Given the description of an element on the screen output the (x, y) to click on. 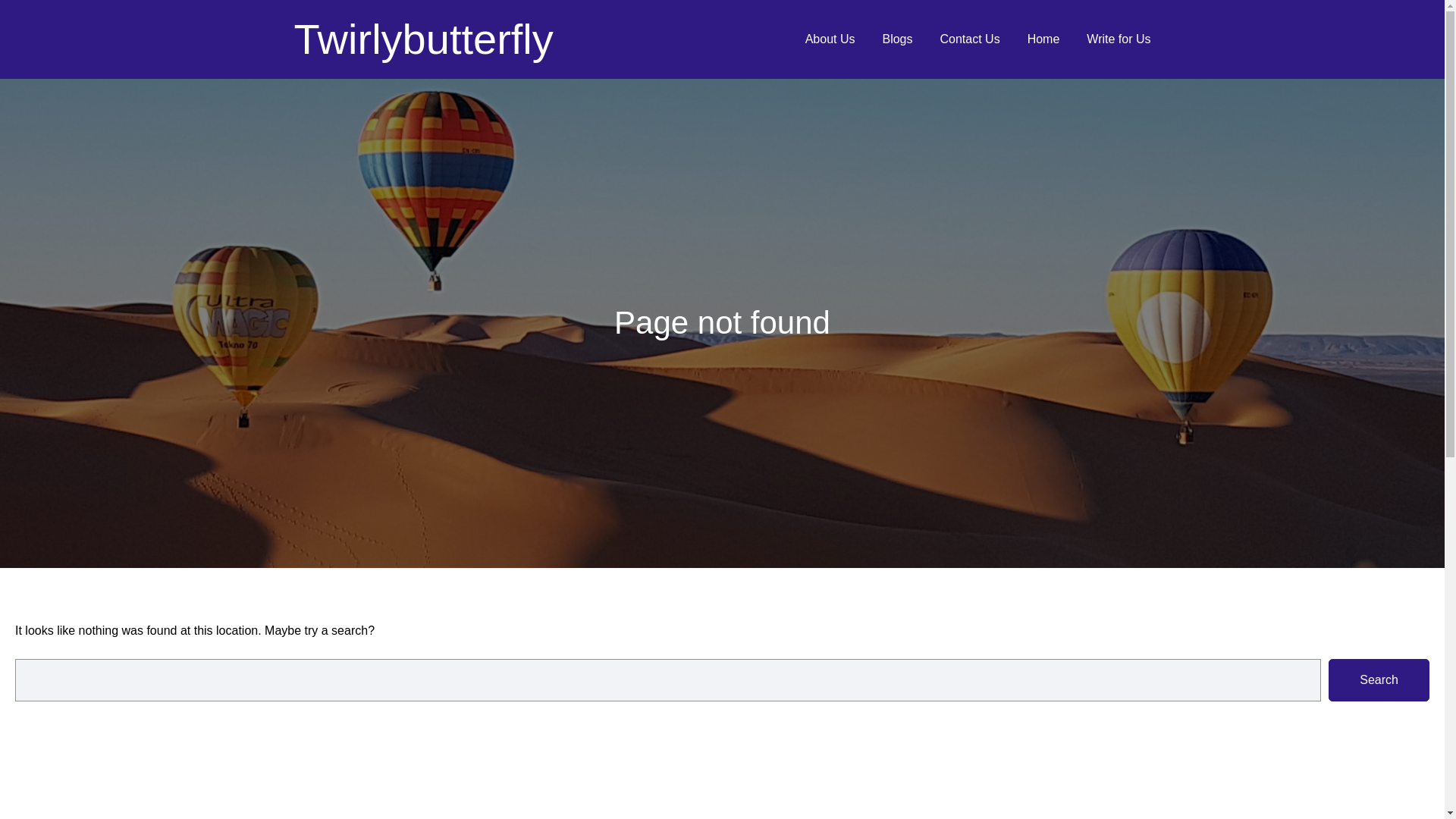
Write for Us (1118, 39)
Contact Us (970, 39)
Blogs (897, 39)
Twirlybutterfly (423, 39)
Home (1043, 39)
About Us (830, 39)
Search (1378, 680)
